Given the description of an element on the screen output the (x, y) to click on. 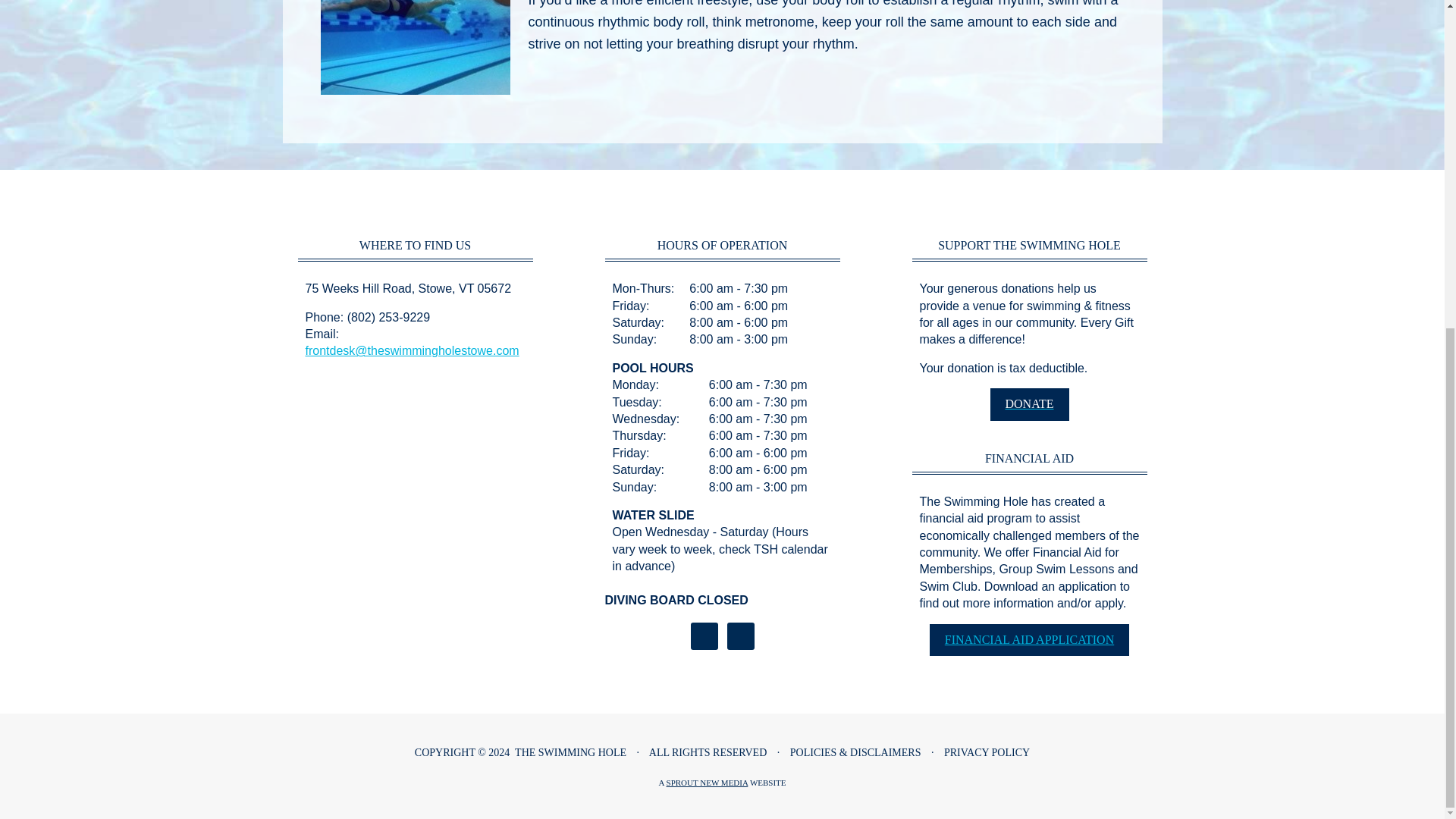
PRIVACY POLICY (986, 752)
FINANCIAL AID APPLICATION (1028, 639)
Privacy Policy (986, 752)
Sprout New Media (707, 782)
SPROUT NEW MEDIA (707, 782)
DONATE (1030, 403)
